Given the description of an element on the screen output the (x, y) to click on. 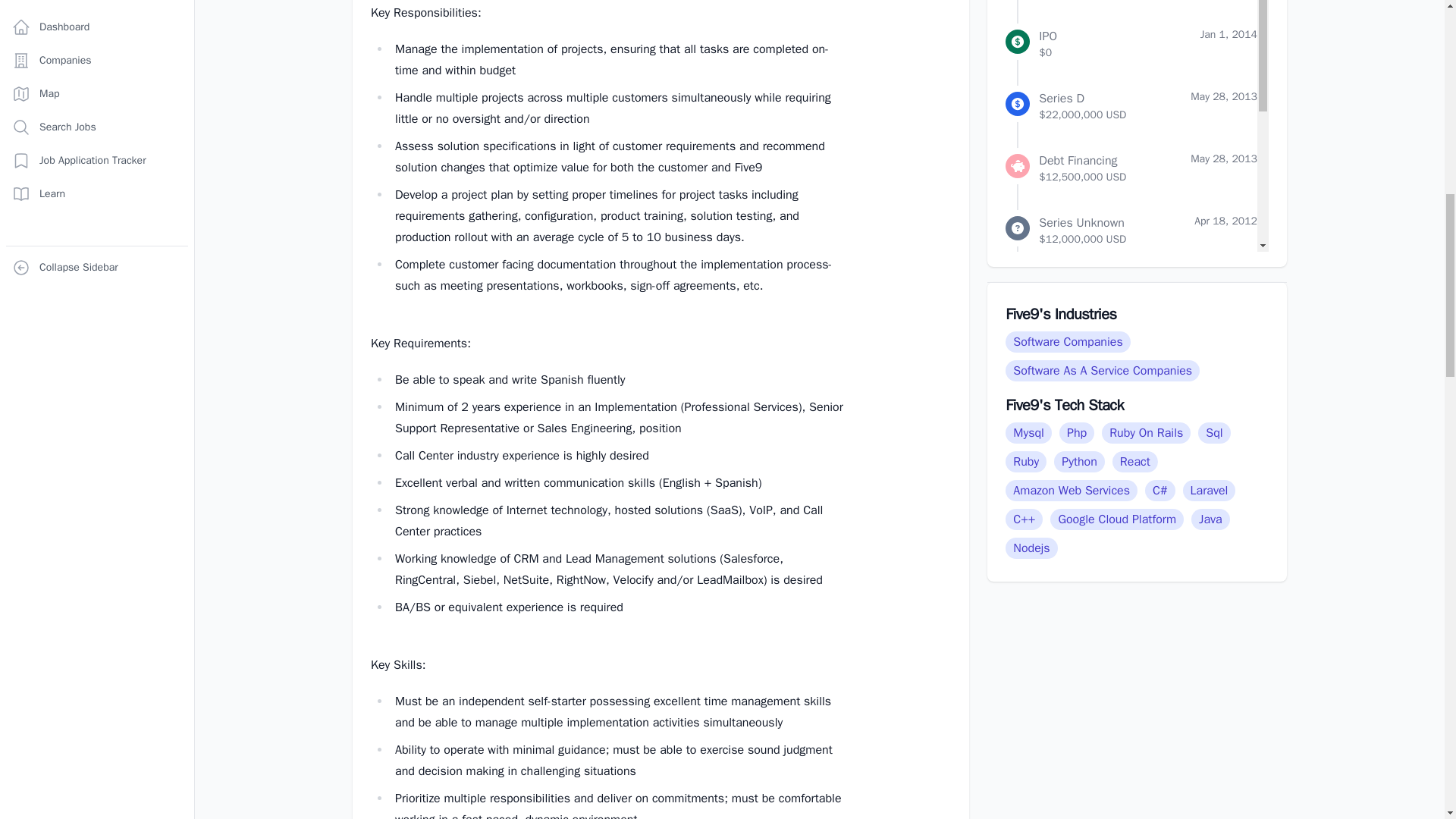
Sql (1217, 432)
Google Cloud Platform (1120, 519)
Software Companies (1071, 341)
Java (1214, 519)
Python (1083, 461)
React (1139, 461)
Php (1080, 432)
Ruby (1030, 461)
Amazon Web Services (1075, 490)
Software As A Service Companies (1106, 370)
Laravel (1212, 490)
Nodejs (1035, 548)
Mysql (1032, 432)
Ruby On Rails (1150, 432)
